Given the description of an element on the screen output the (x, y) to click on. 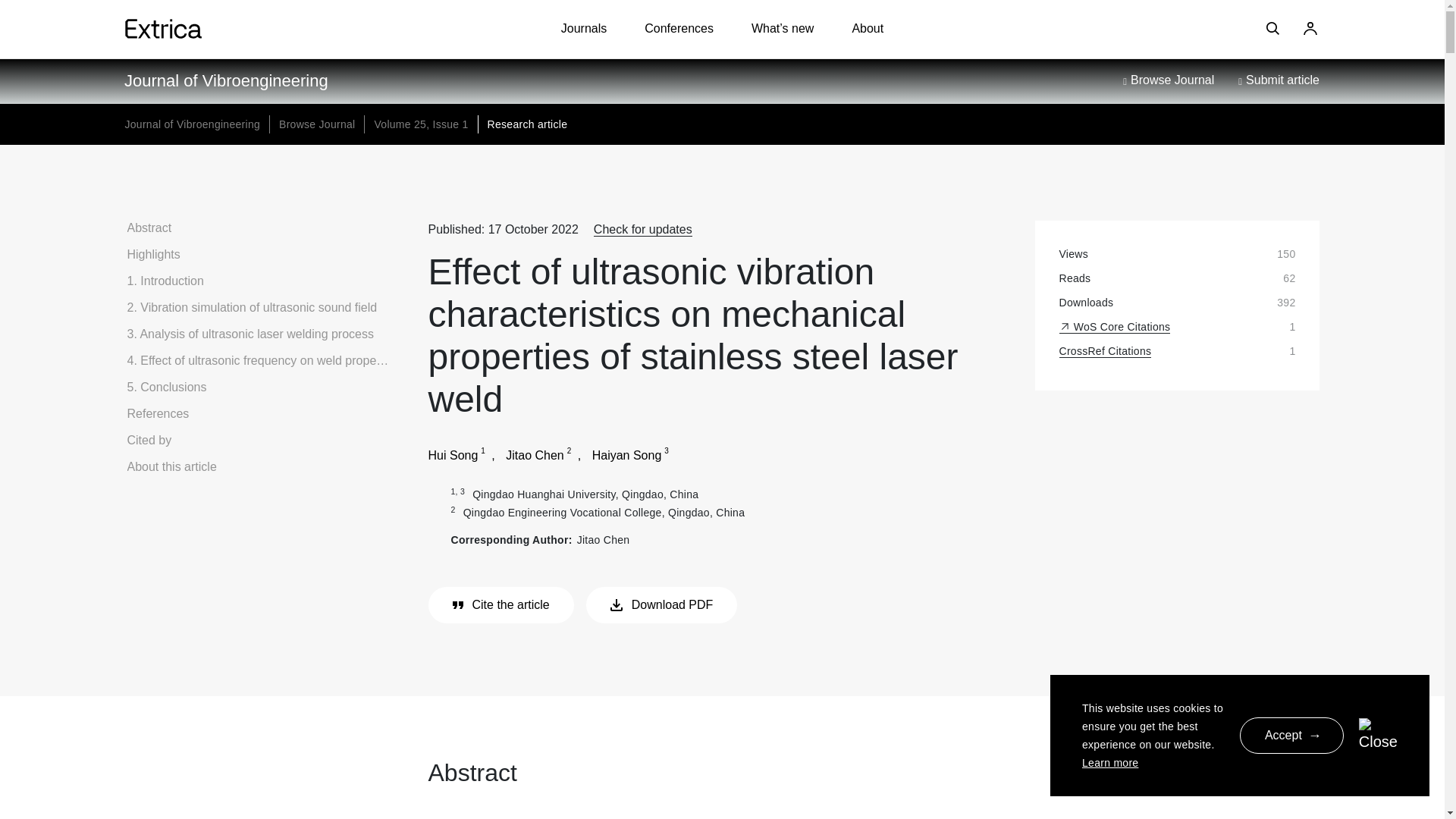
Cited by (149, 440)
Research article (526, 124)
Browse Journal (1156, 80)
Cite the article (500, 605)
Highlights (154, 254)
Abstract (149, 227)
5. Conclusions (167, 386)
WoS Core Citations (1114, 327)
4. Effect of ultrasonic frequency on weld properties (258, 359)
Journal of Vibroengineering (192, 124)
